Given the description of an element on the screen output the (x, y) to click on. 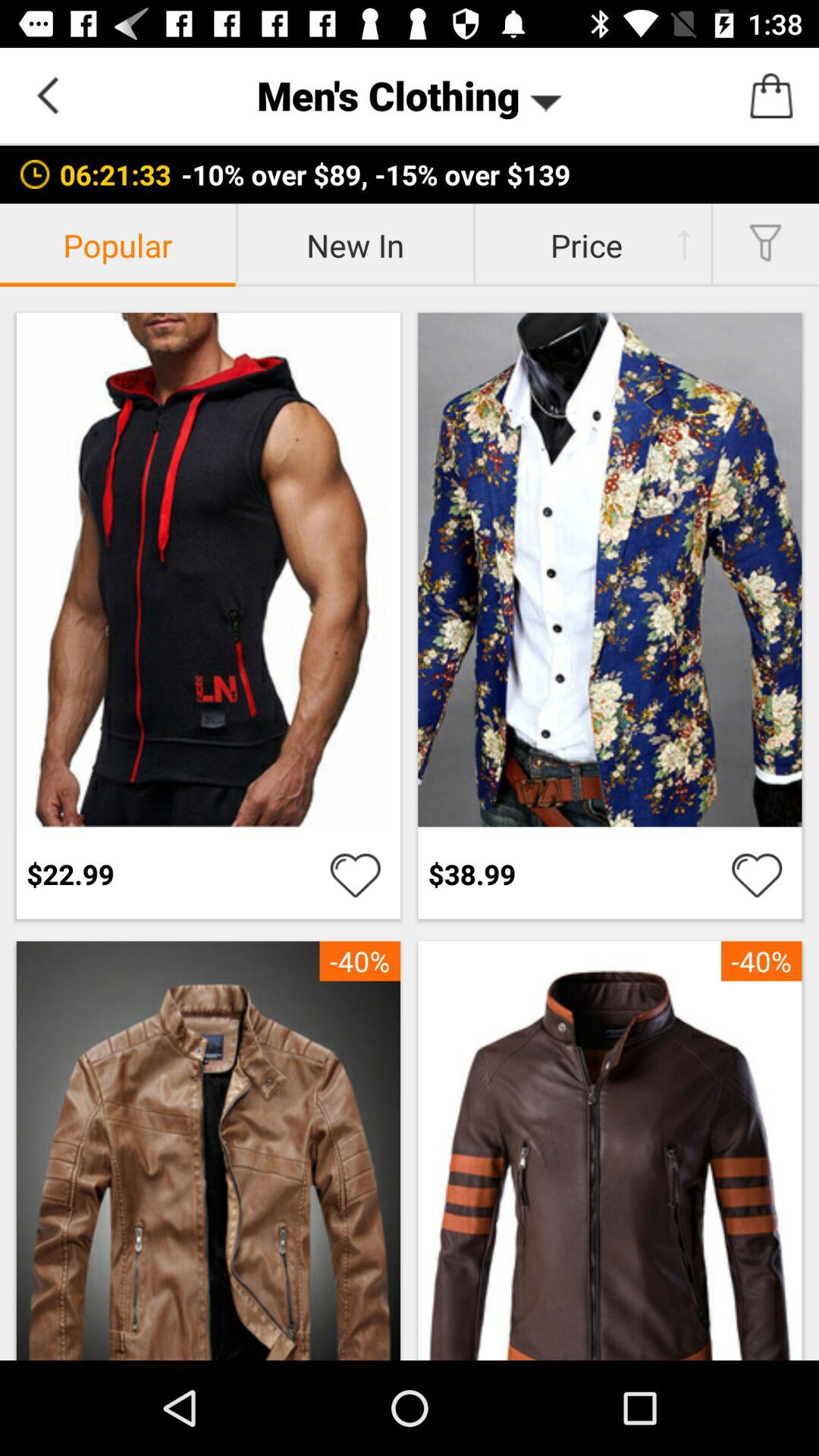
add to wishlist (756, 874)
